Given the description of an element on the screen output the (x, y) to click on. 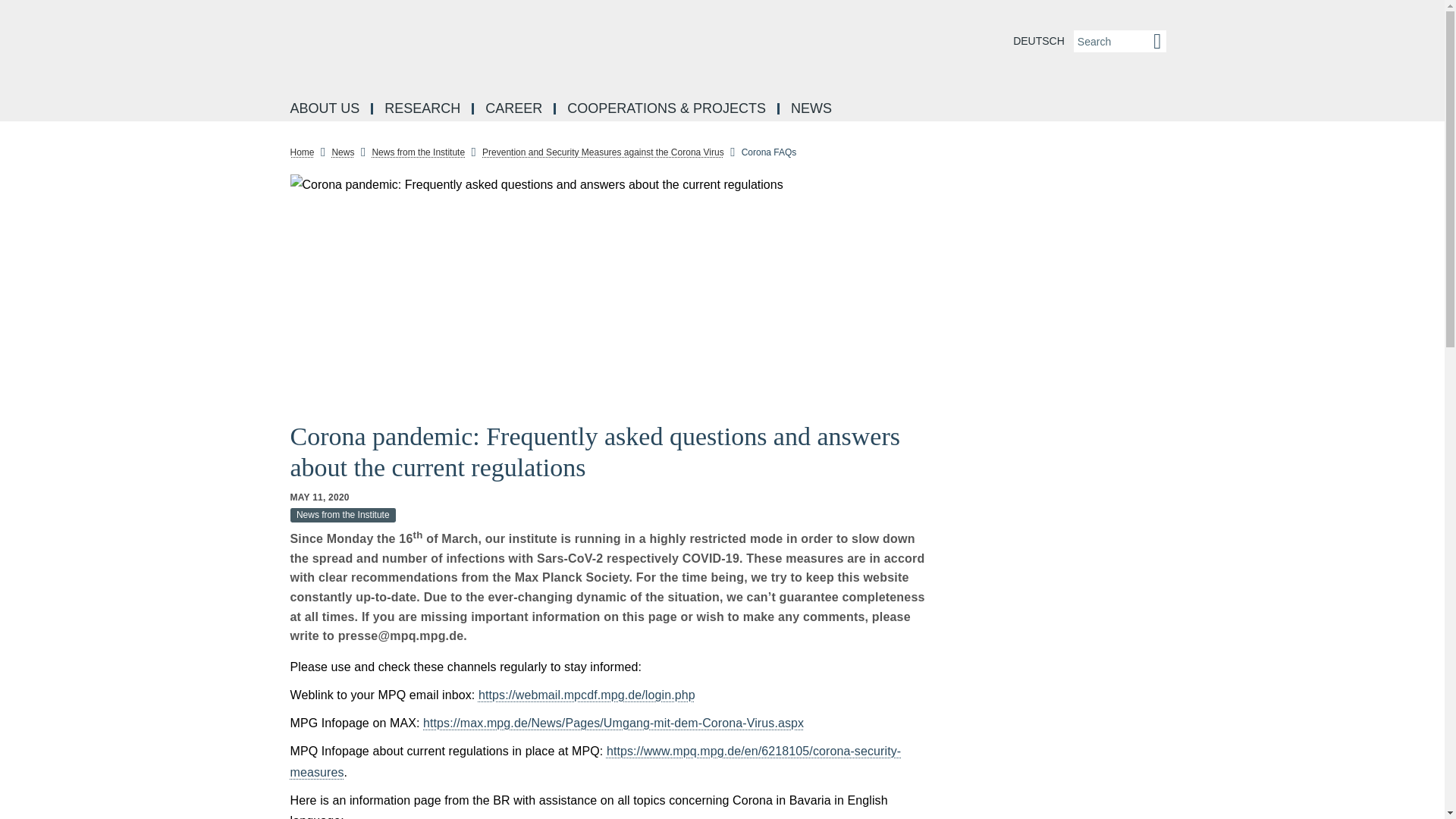
ABOUT US (326, 108)
E-Mail (258, 354)
Twitter (258, 287)
Print (258, 389)
Xing (258, 321)
RESEARCH (423, 108)
Reddit (258, 252)
LinkedIn (258, 219)
DEUTSCH (1038, 41)
